Given the description of an element on the screen output the (x, y) to click on. 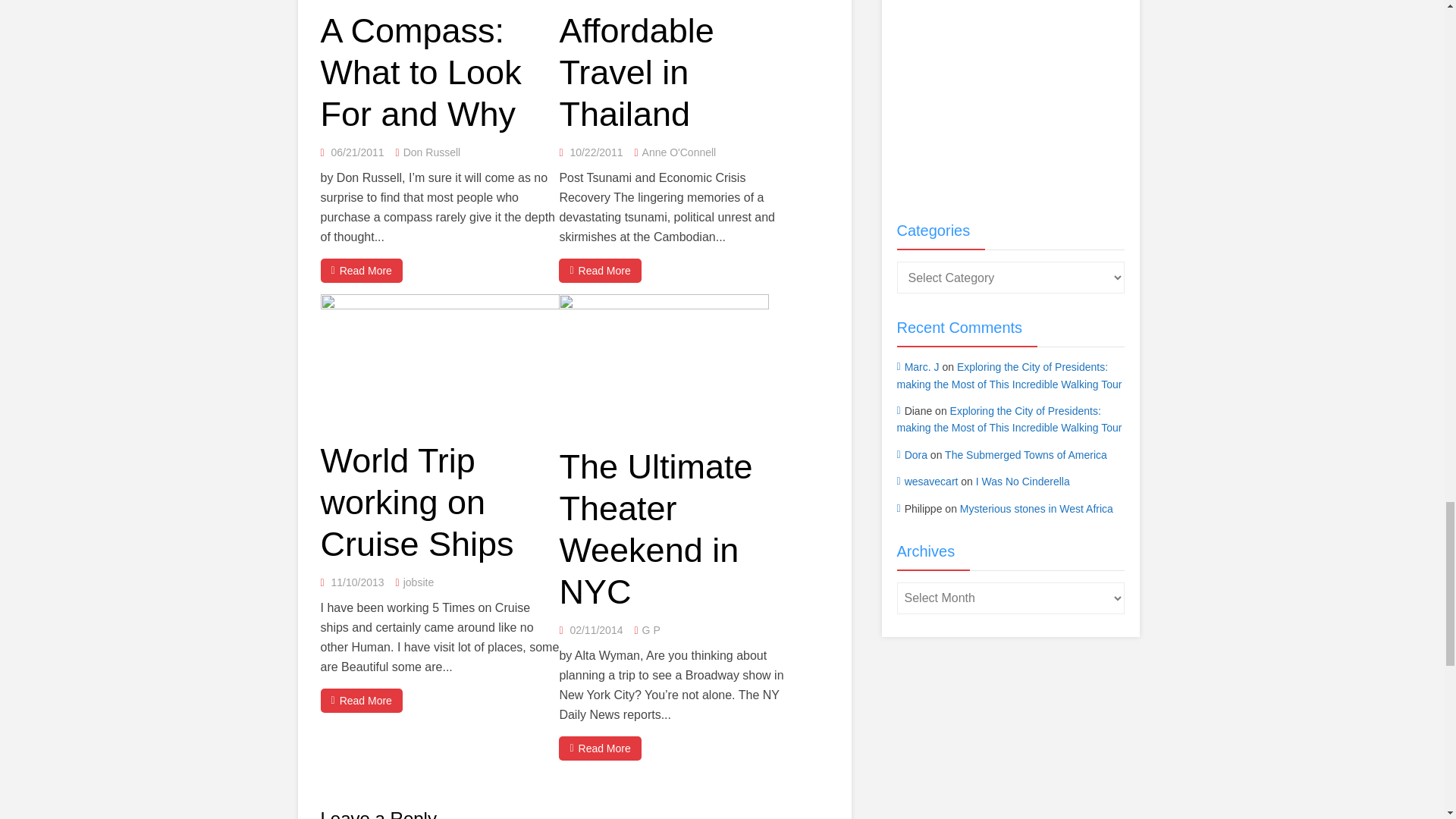
Don Russell (431, 152)
A Compass: What to Look For and Why (420, 72)
Read More (360, 270)
